Given the description of an element on the screen output the (x, y) to click on. 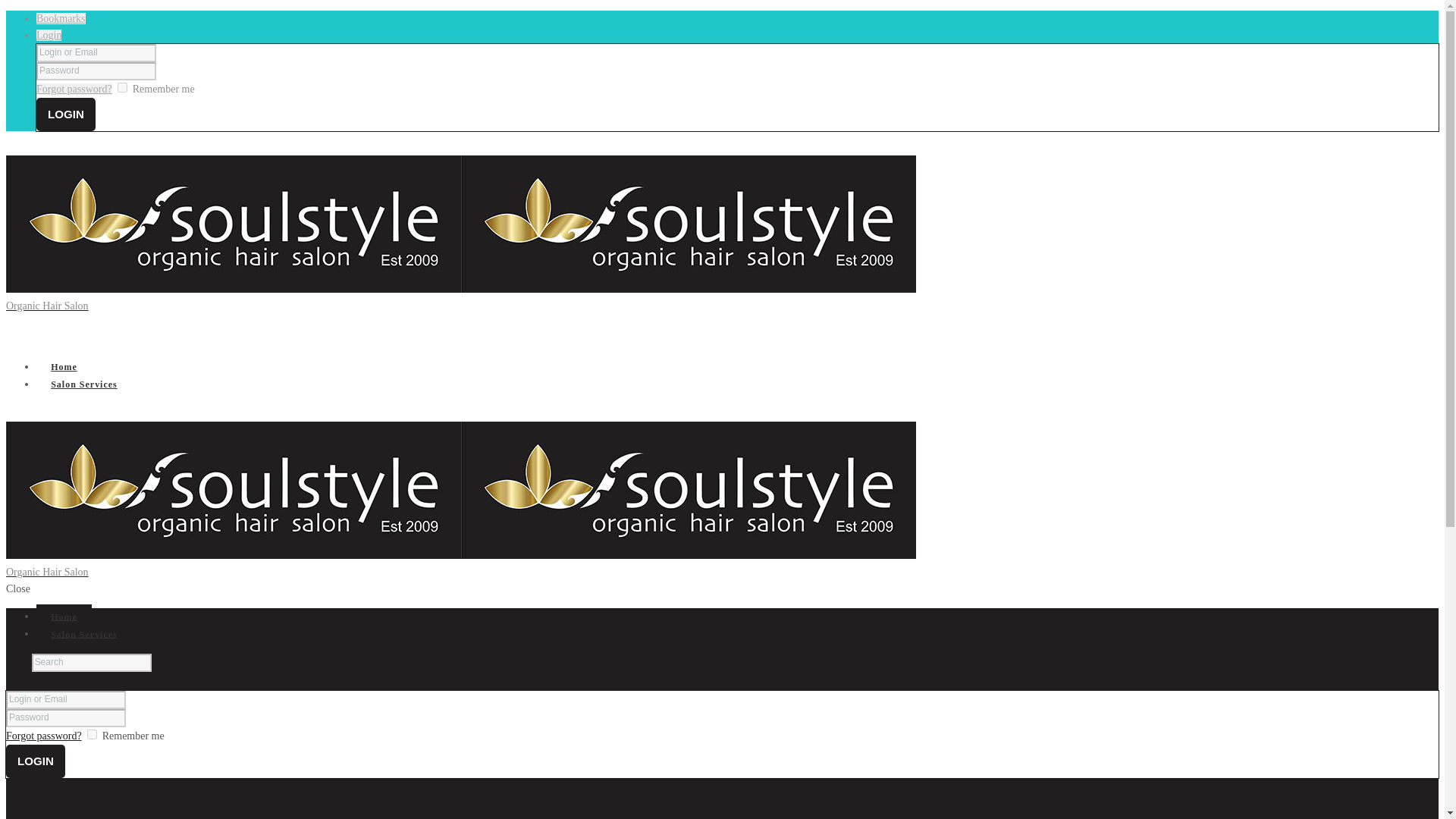
Salon Services (84, 383)
Forgot password? (74, 89)
Forgot password? (43, 736)
Login (66, 114)
Salon Services (84, 634)
Login (35, 761)
Start search (17, 665)
Show bookmarks (60, 18)
Login (17, 681)
Login (35, 761)
forever (122, 87)
Login (66, 114)
Bookmarks (60, 18)
forever (92, 734)
Home (63, 616)
